Given the description of an element on the screen output the (x, y) to click on. 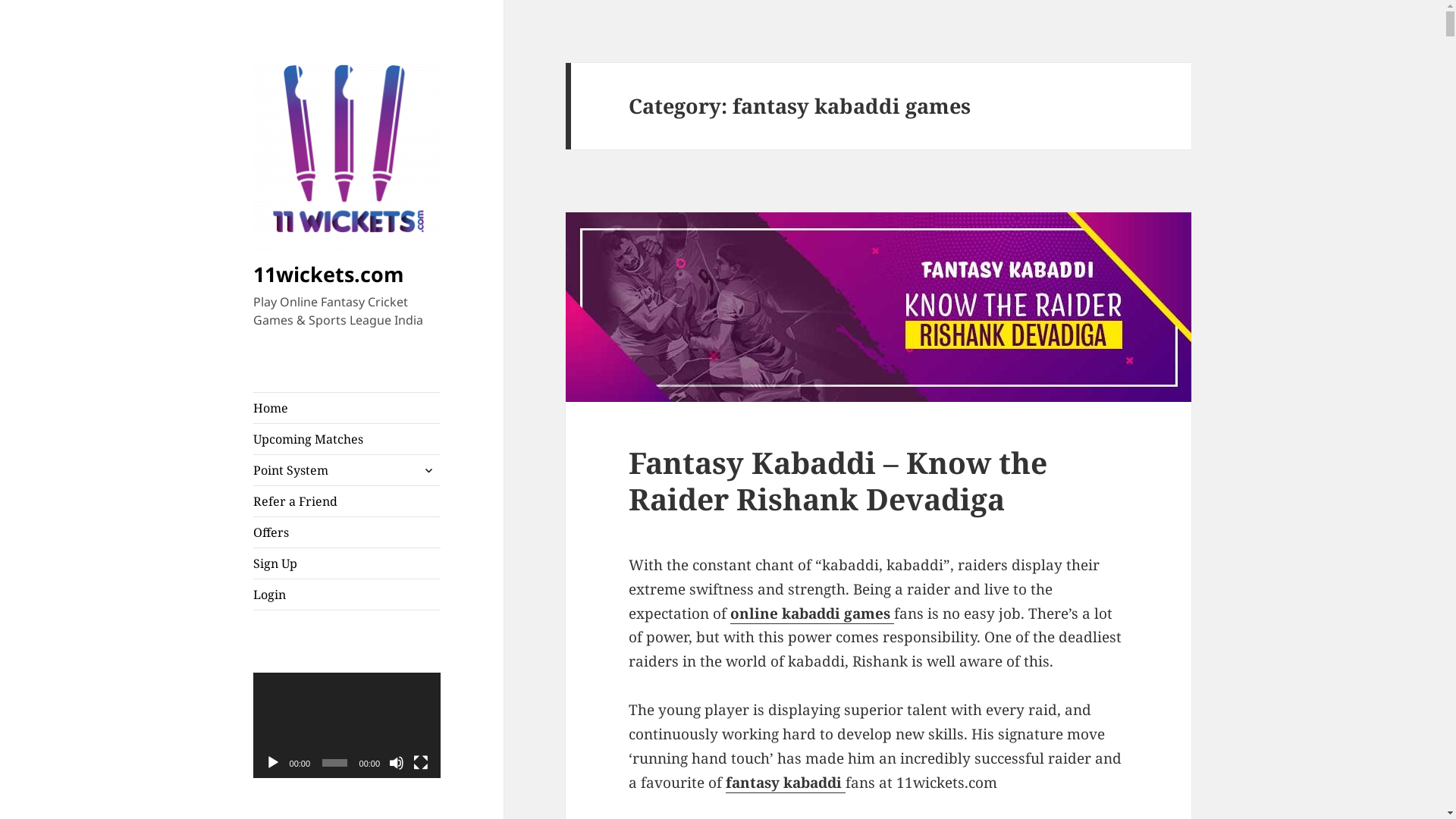
online kabaddi games Element type: text (812, 613)
Play Element type: hover (272, 762)
Mute Element type: hover (396, 762)
Fullscreen Element type: hover (420, 762)
Offers Element type: text (347, 532)
11wickets.com Element type: text (328, 274)
Home Element type: text (347, 407)
Upcoming Matches Element type: text (347, 438)
fantasy kabaddi Element type: text (785, 782)
Point System Element type: text (347, 470)
Login Element type: text (347, 594)
Refer a Friend Element type: text (347, 501)
Sign Up Element type: text (347, 563)
expand child menu Element type: text (428, 470)
